Given the description of an element on the screen output the (x, y) to click on. 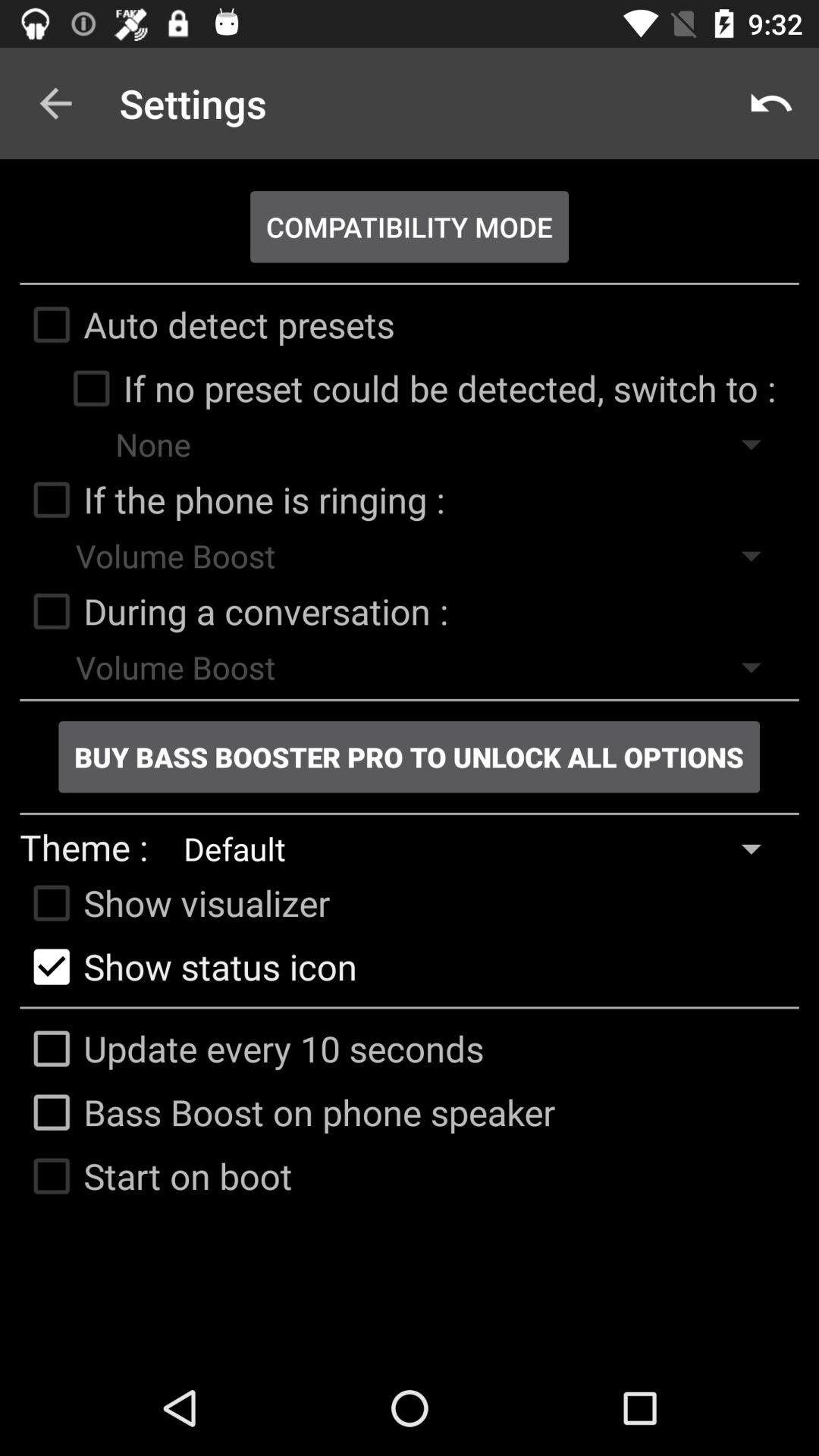
flip until buy bass booster icon (408, 756)
